Given the description of an element on the screen output the (x, y) to click on. 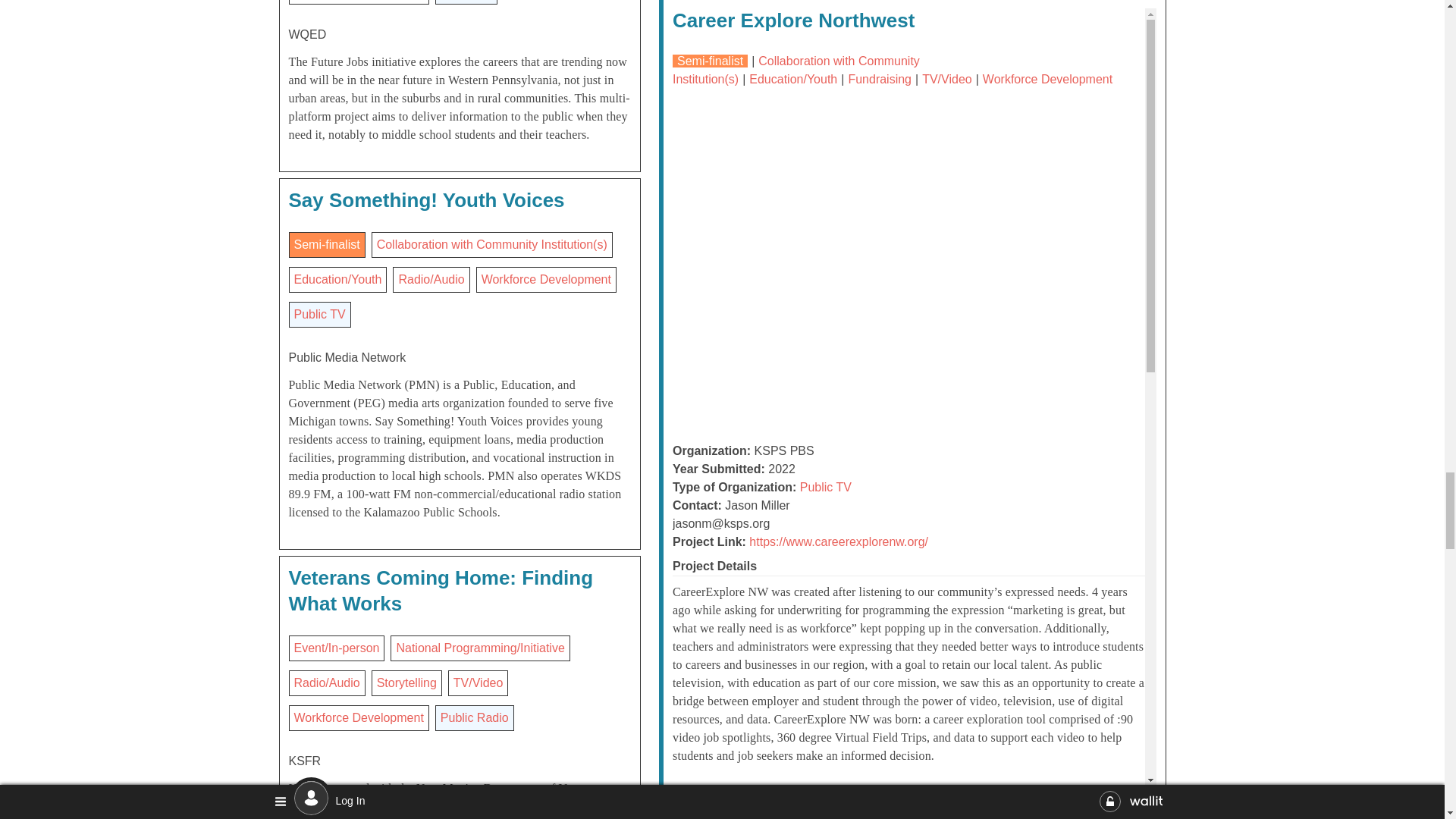
Permalink to Say Something! Youth Voices (426, 200)
Permalink to Veterans Coming Home: Finding What Works (440, 590)
